Given the description of an element on the screen output the (x, y) to click on. 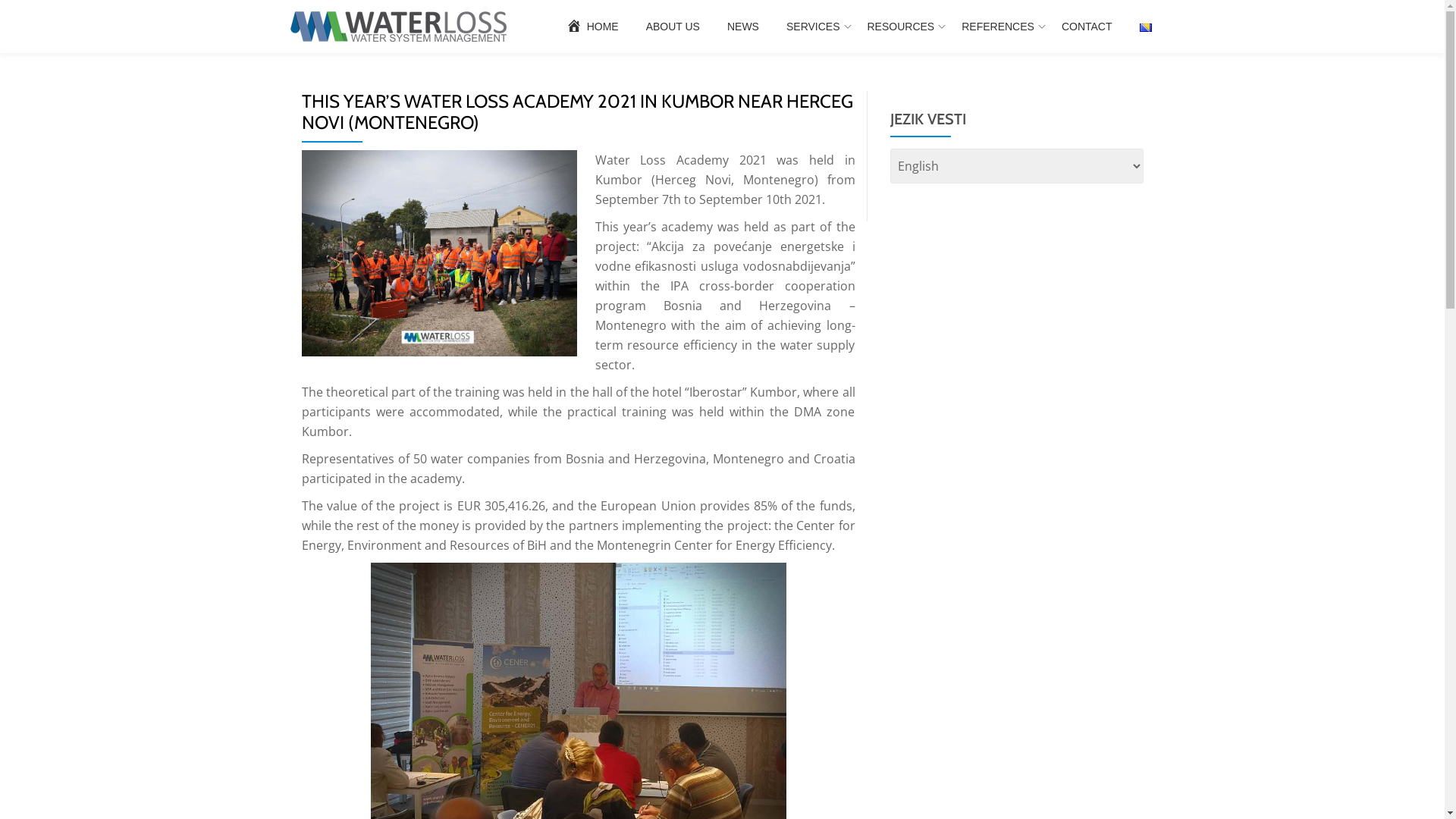
Skip to content Element type: text (0, 30)
ABOUT US Element type: text (672, 26)
Water Loss Ltd. Element type: hover (400, 26)
Bosanski Element type: hover (1145, 27)
HOME Element type: text (592, 26)
NEWS Element type: text (743, 26)
SERVICES Element type: text (813, 26)
CONTACT Element type: text (1086, 26)
RESOURCES Element type: text (901, 26)
REFERENCES Element type: text (997, 26)
